Given the description of an element on the screen output the (x, y) to click on. 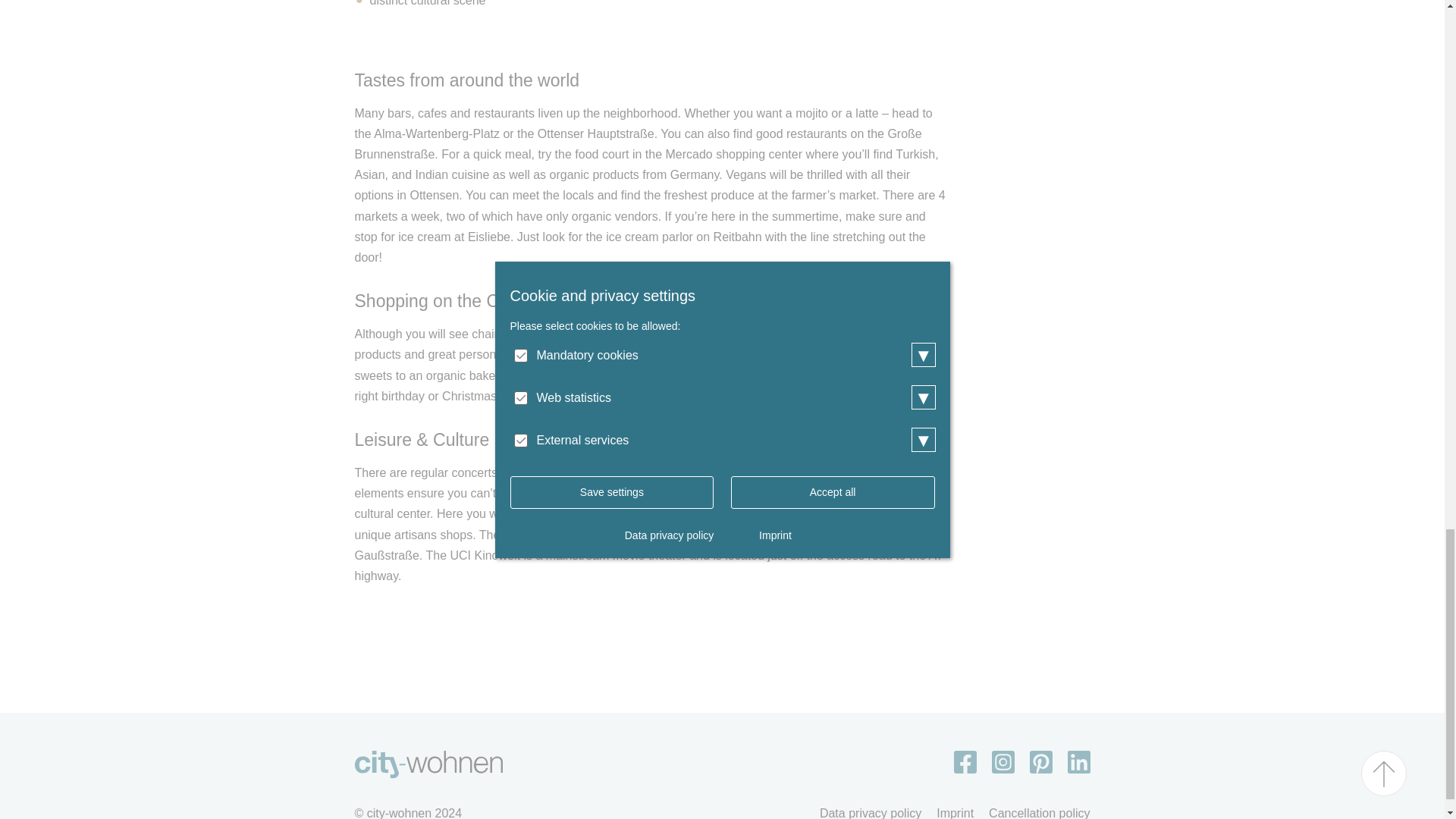
LinkedIn (1078, 762)
Facebook (964, 762)
Instagram (1002, 762)
Pinterest (1040, 762)
